Given the description of an element on the screen output the (x, y) to click on. 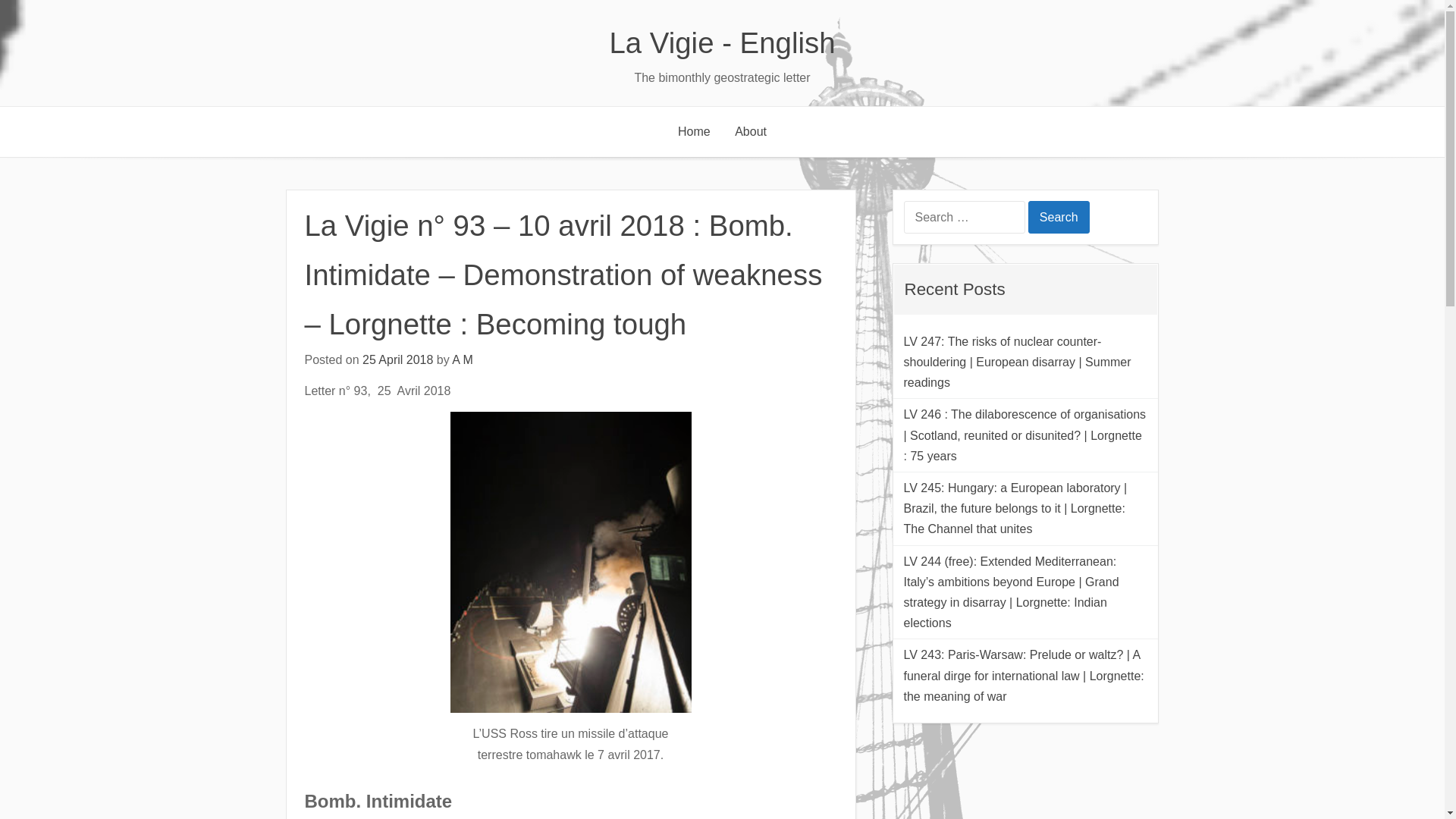
Search (1058, 216)
La Vigie - English (721, 42)
Search (1058, 216)
Home (693, 131)
About (750, 131)
Search (1058, 216)
A M (462, 359)
25 April 2018 (397, 359)
